Given the description of an element on the screen output the (x, y) to click on. 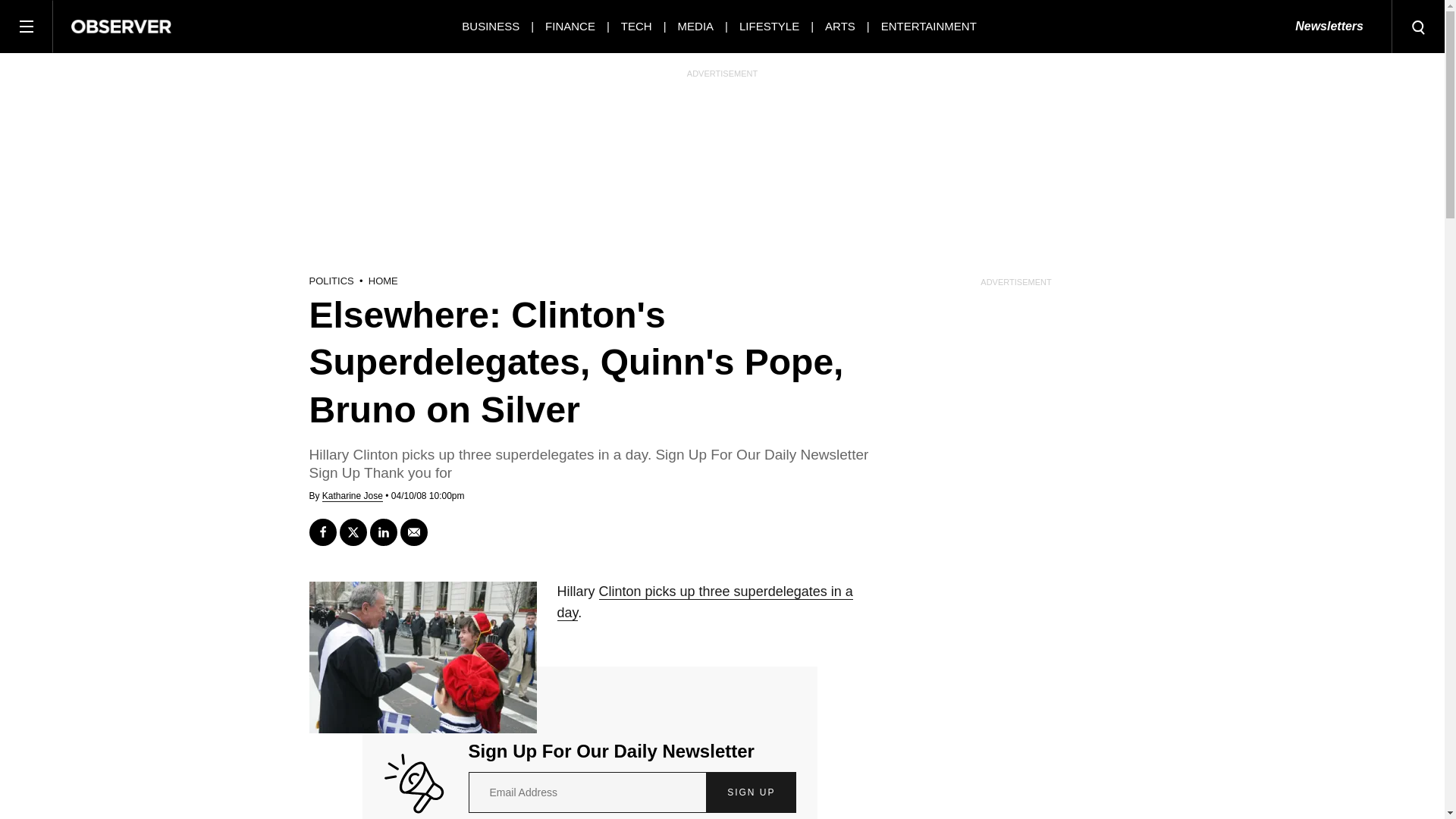
FINANCE (569, 25)
Share on Facebook (322, 532)
View All Posts by Katharine Jose (351, 496)
LIFESTYLE (769, 25)
Send email (414, 532)
Share on LinkedIn (383, 532)
BUSINESS (490, 25)
ARTS (840, 25)
ENTERTAINMENT (928, 25)
TECH (636, 25)
